Given the description of an element on the screen output the (x, y) to click on. 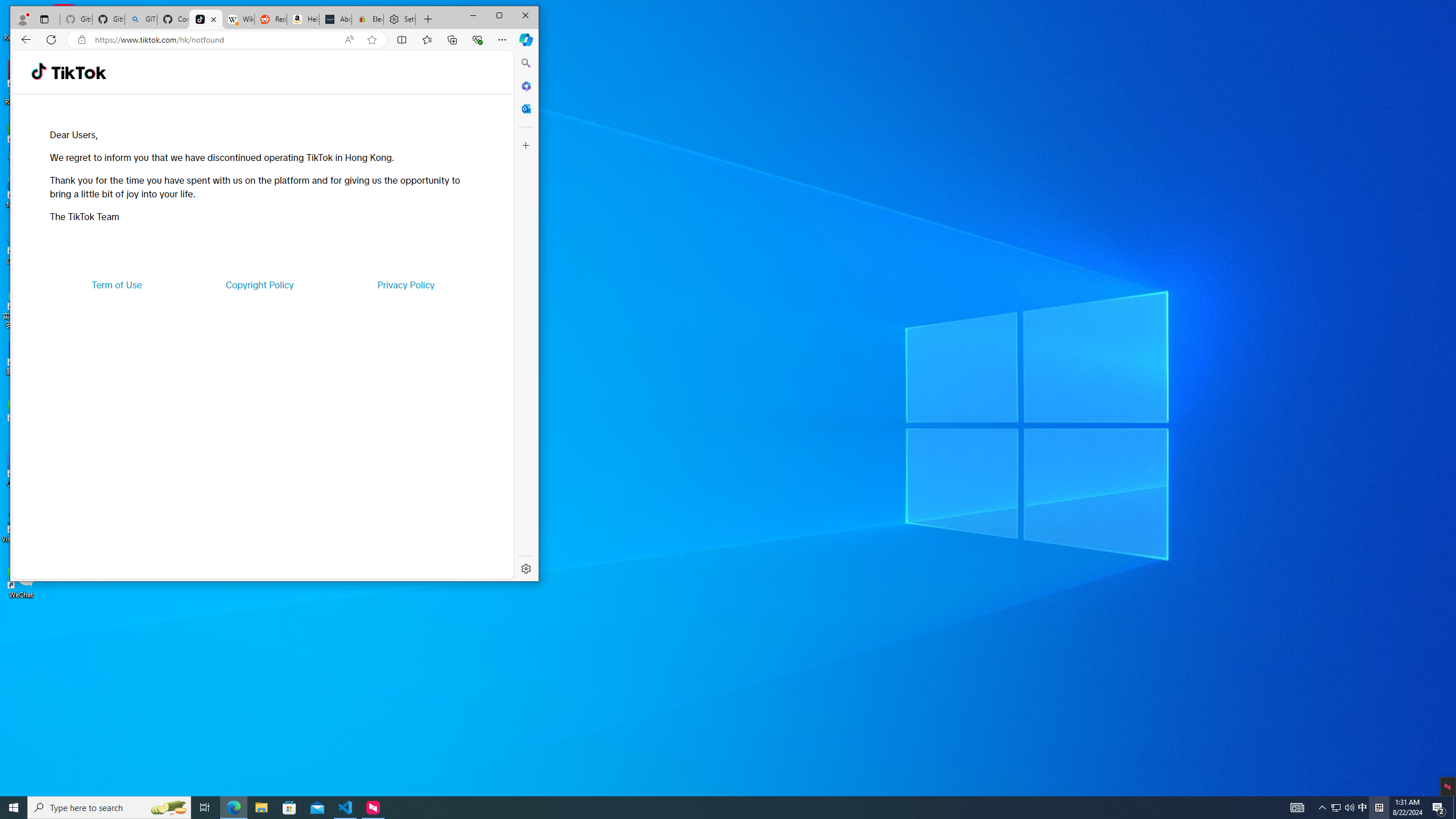
Wikipedia, the free encyclopedia (237, 19)
Help & Contact Us - Amazon Customer Service (303, 19)
TikTok (205, 19)
Microsoft Store (289, 807)
Term of Use (116, 284)
TikTok (78, 72)
Task View (204, 807)
